Given the description of an element on the screen output the (x, y) to click on. 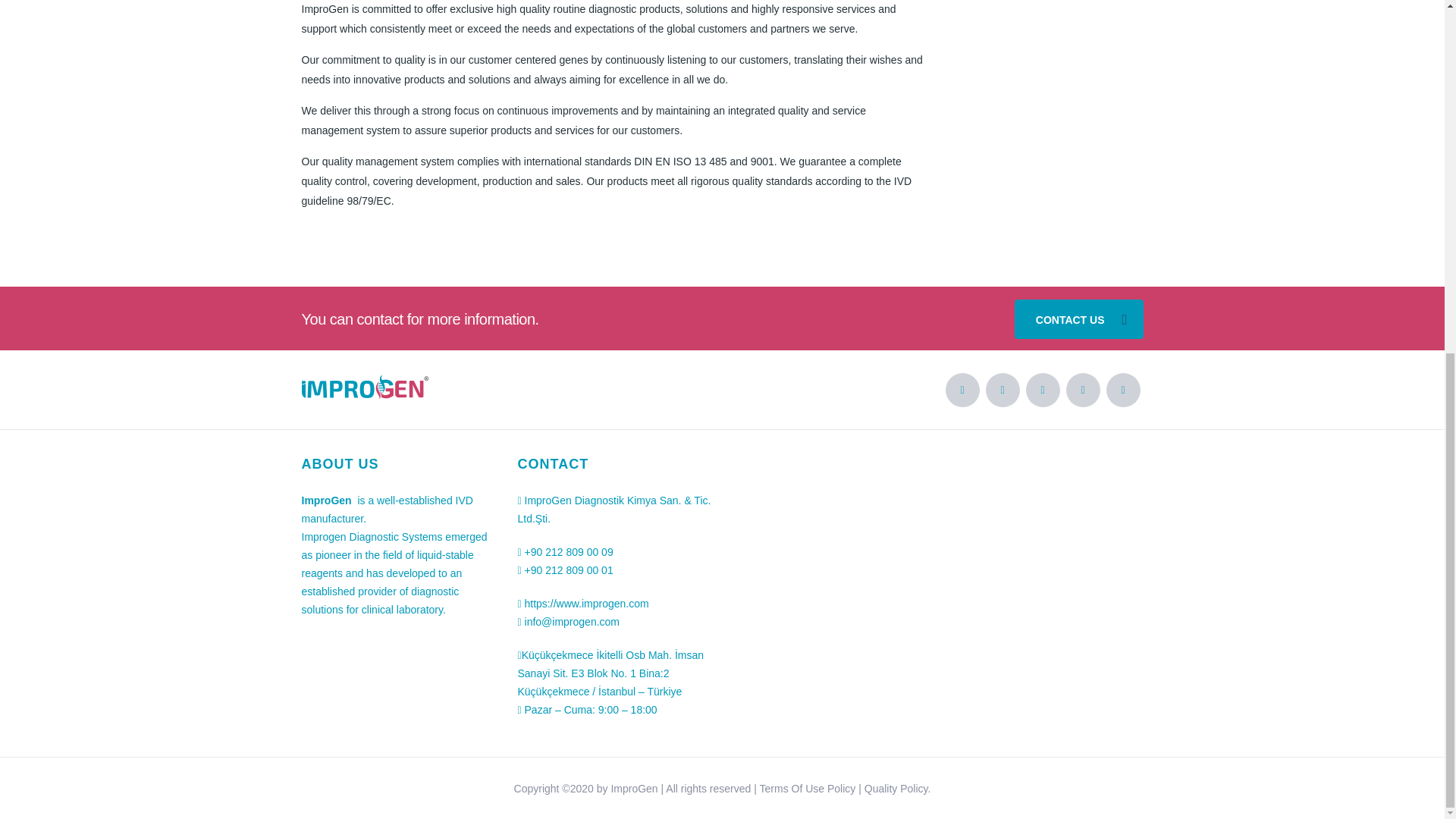
Contact Us (1078, 319)
Quality Policy (896, 788)
ImproGen (634, 788)
Terms Of Use Policy (809, 788)
CONTACT US (1078, 319)
